Given the description of an element on the screen output the (x, y) to click on. 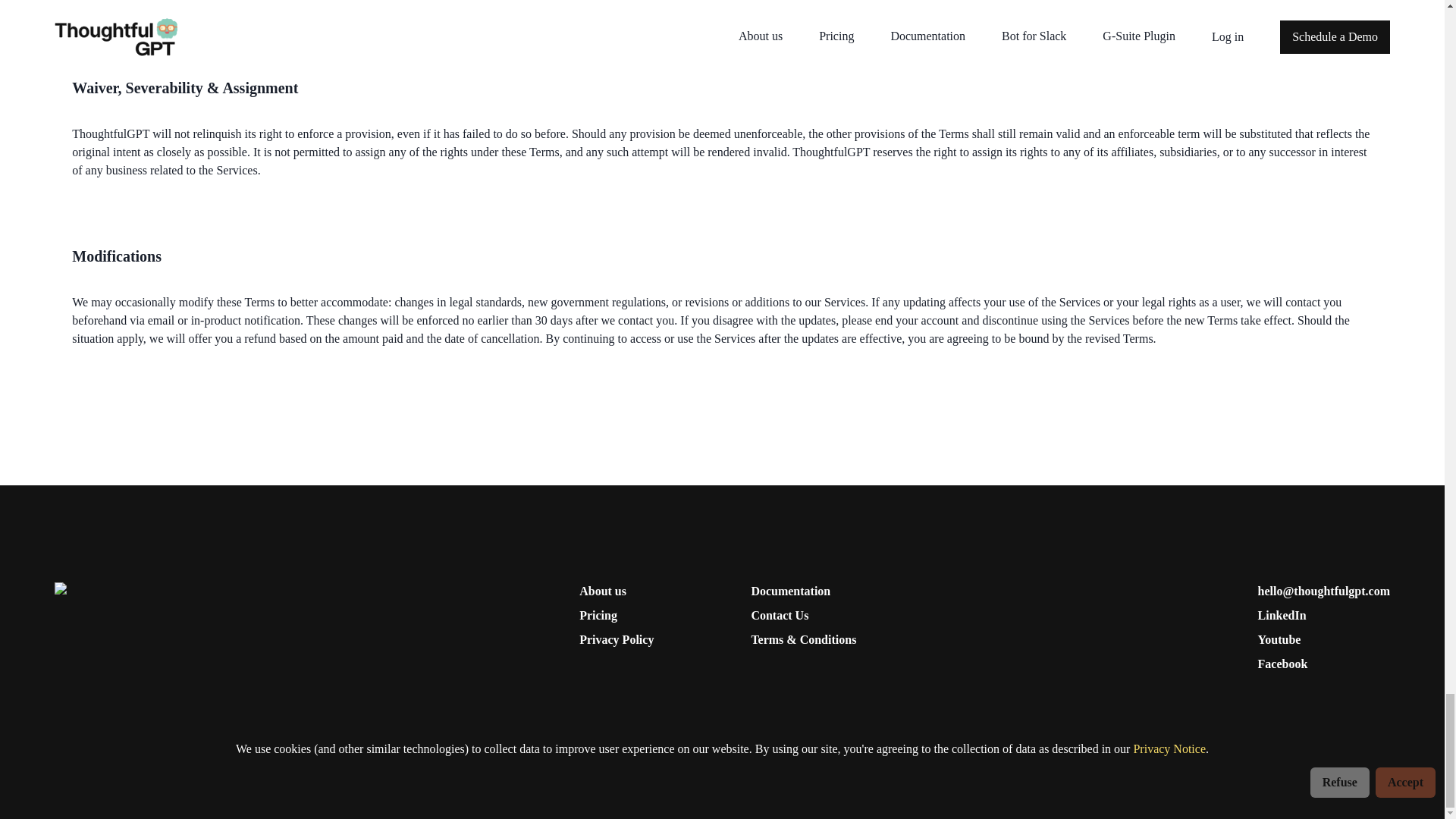
Contact Us (803, 615)
About us (616, 591)
Youtube (1323, 639)
Privacy Policy (616, 639)
LinkedIn (1323, 615)
Pricing (616, 615)
Facebook (1323, 664)
Documentation (803, 591)
